Given the description of an element on the screen output the (x, y) to click on. 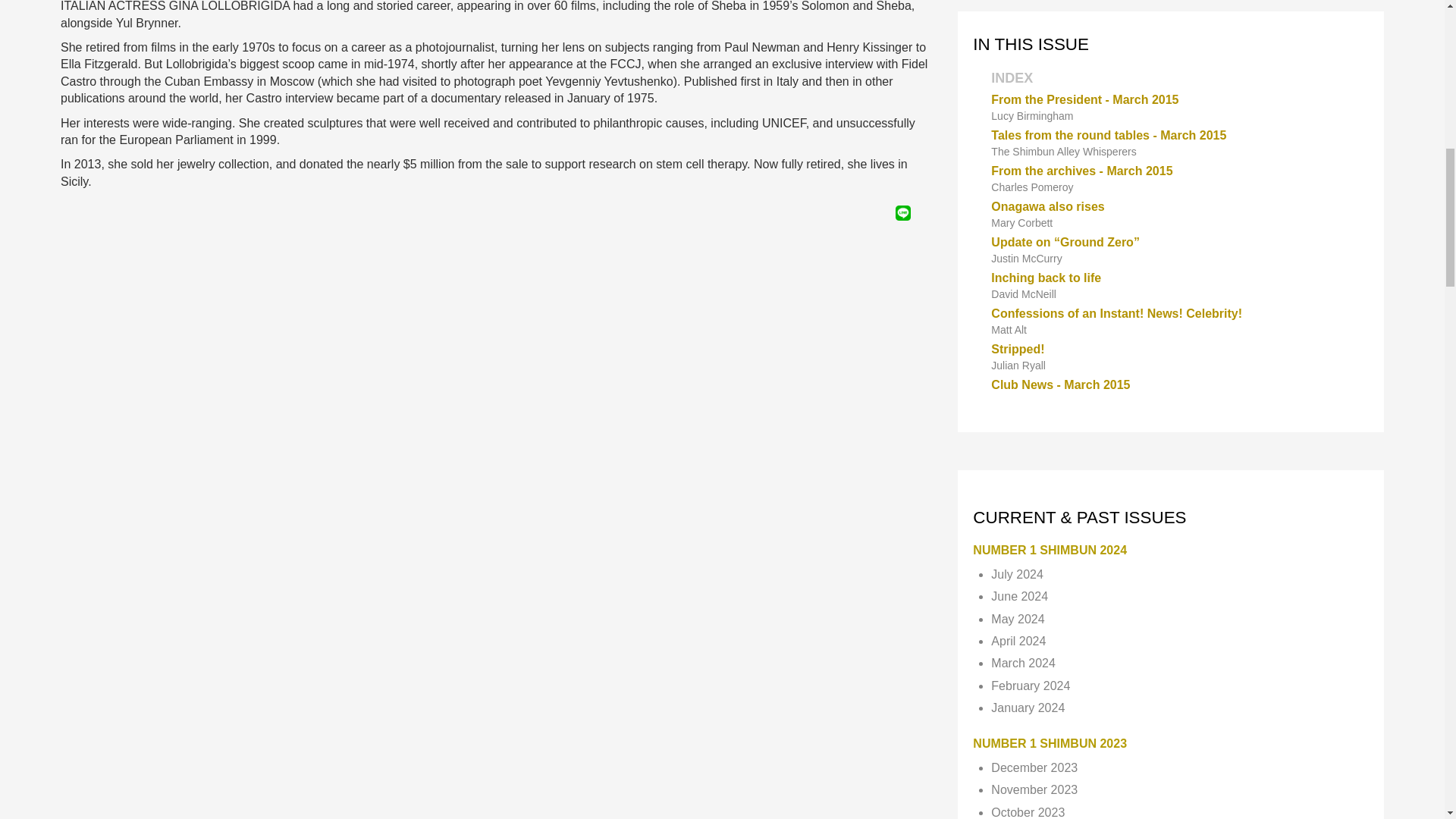
Share to Linkedin (882, 212)
Share to E-mail (924, 212)
Share to Line (903, 212)
Share to Facebook (860, 212)
